Given the description of an element on the screen output the (x, y) to click on. 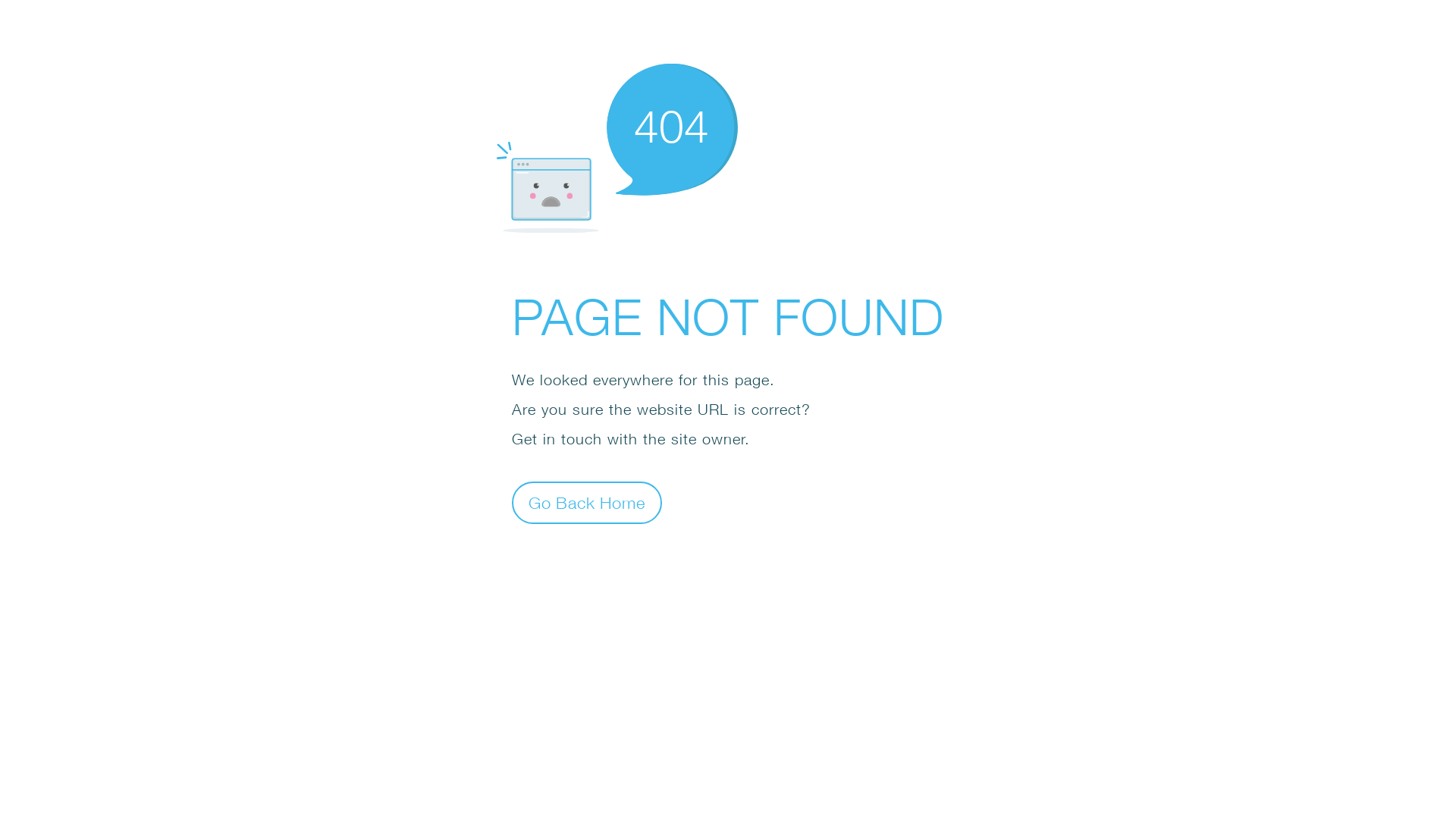
Go Back Home Element type: text (586, 502)
